Given the description of an element on the screen output the (x, y) to click on. 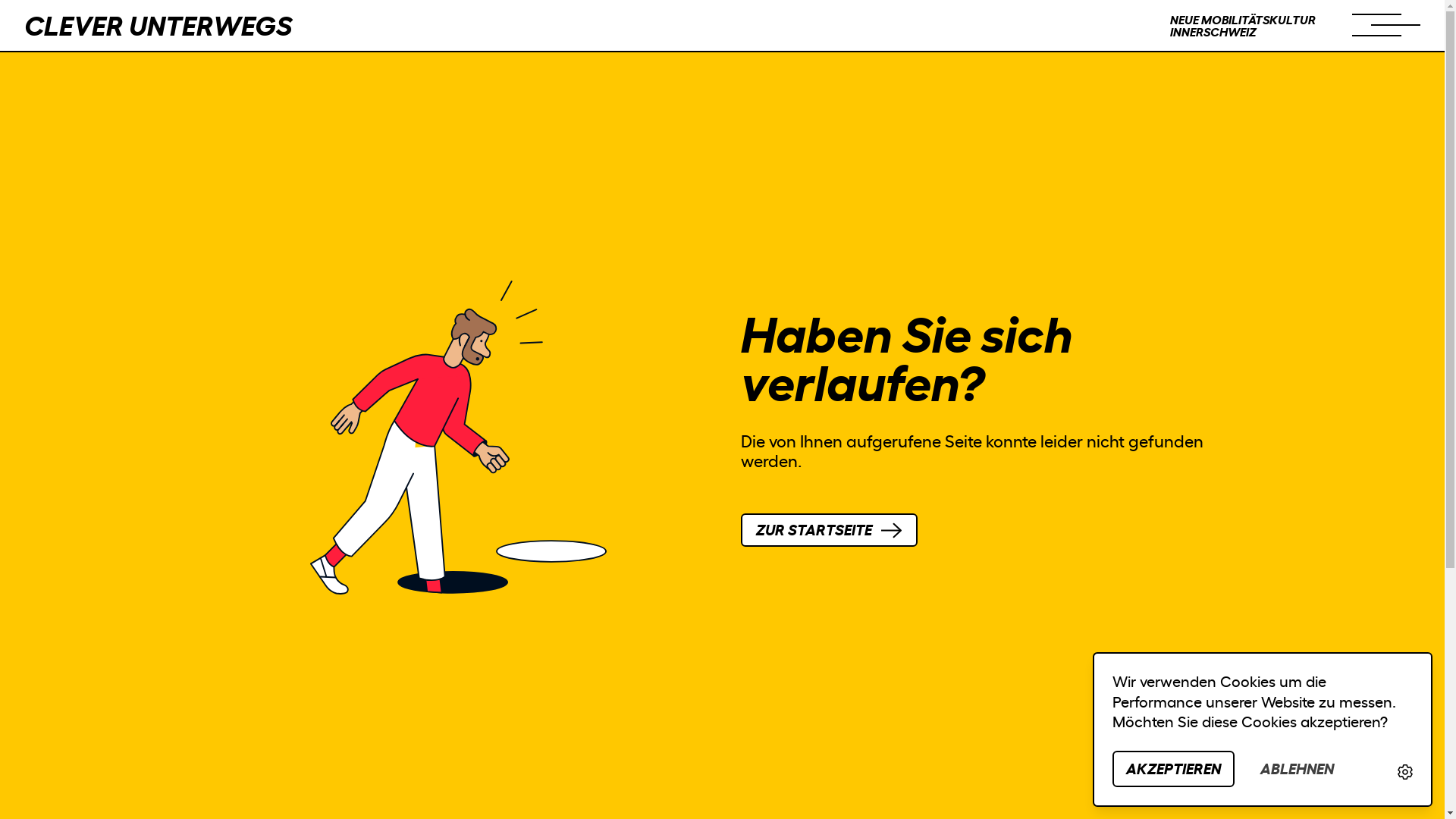
ABLEHNEN Element type: text (1296, 768)
CLEVER UNTERWEGS Element type: text (157, 25)
AKZEPTIEREN Element type: text (1173, 768)
ZUR 
STARTSEITE Element type: text (828, 529)
